Given the description of an element on the screen output the (x, y) to click on. 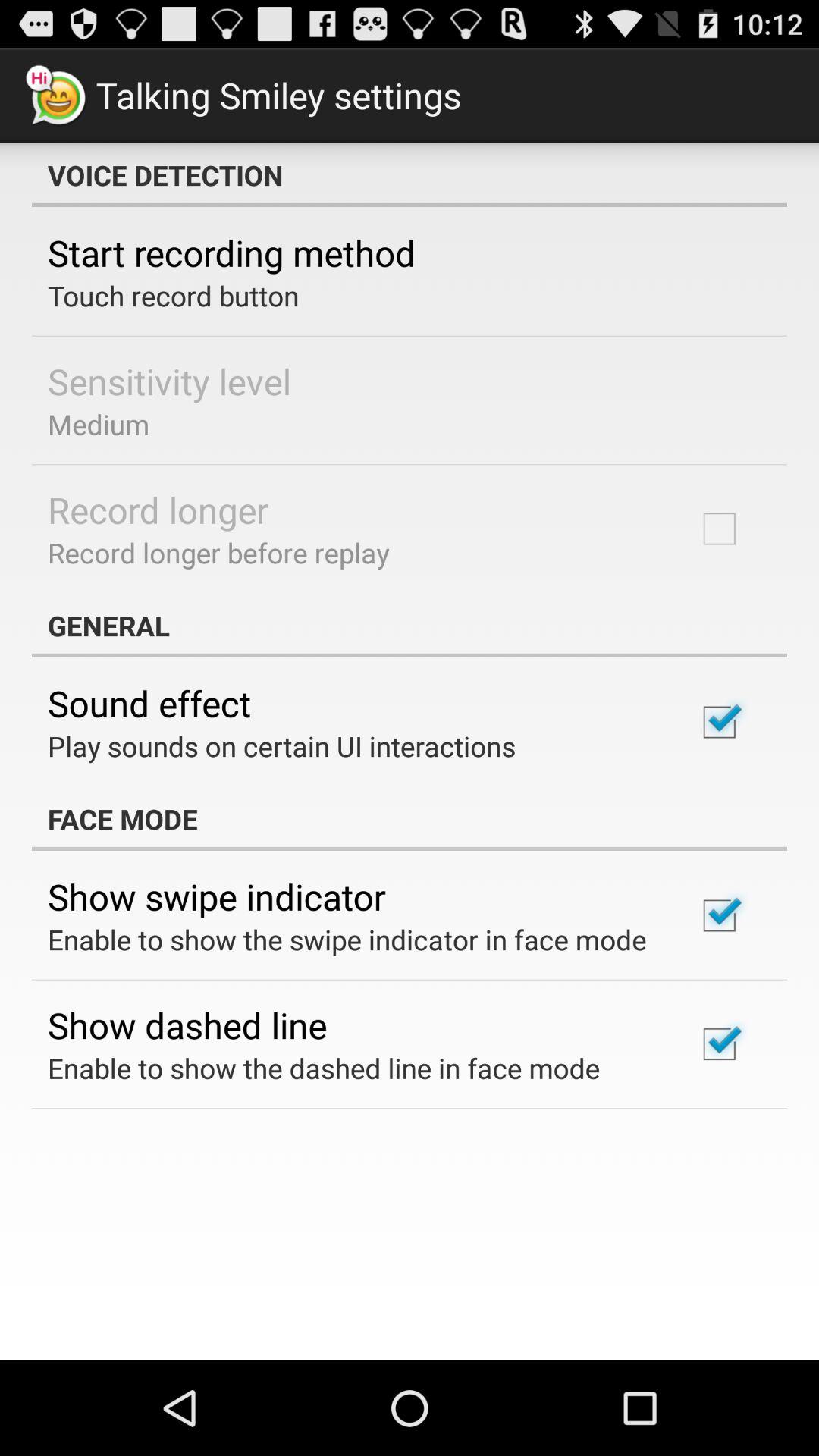
choose the item below the start recording method icon (173, 295)
